Given the description of an element on the screen output the (x, y) to click on. 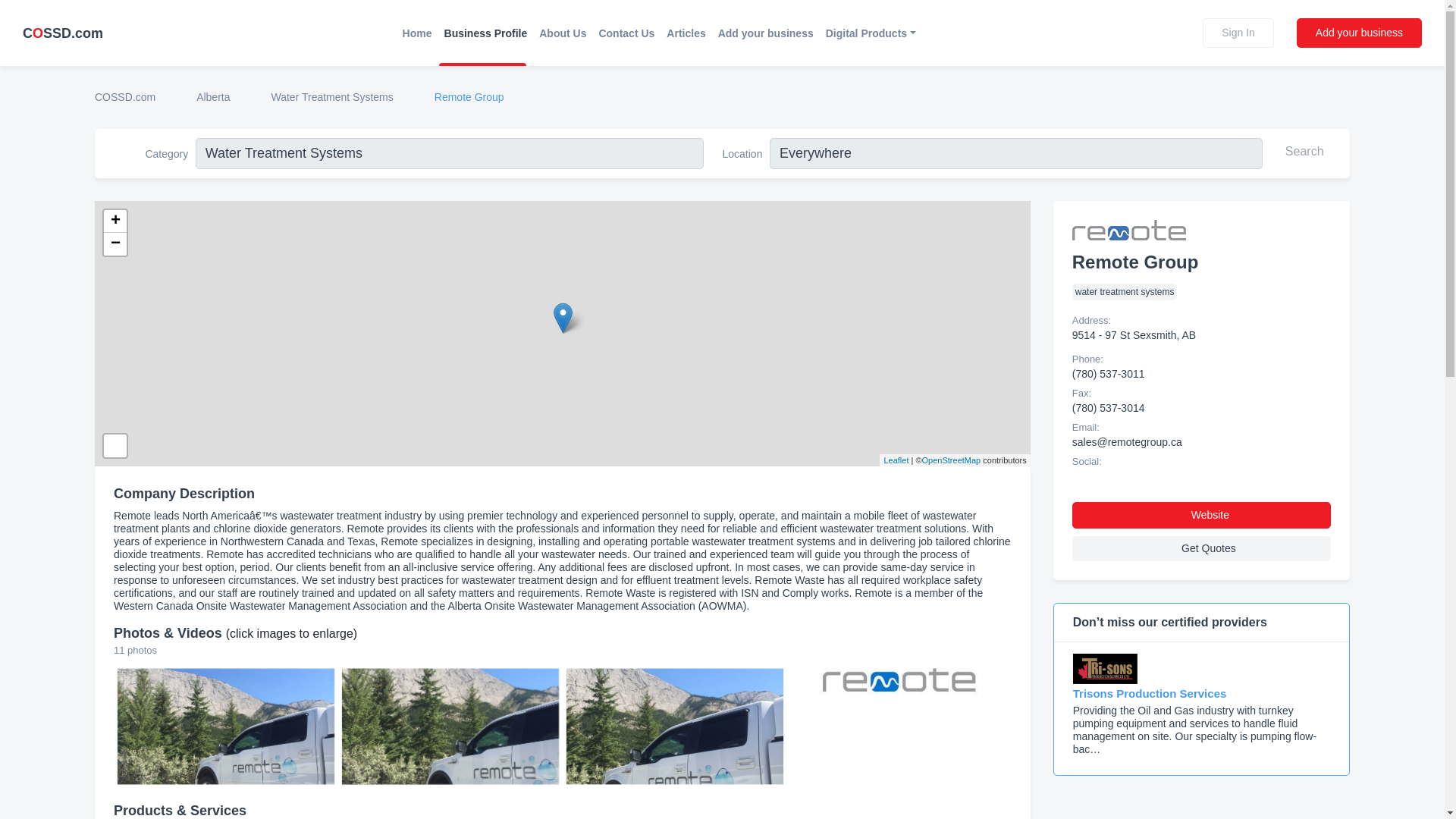
Home (417, 32)
Zoom out (114, 243)
COSSD.com (63, 32)
Add your business (765, 32)
Everywhere (1016, 153)
OpenStreetMap (951, 459)
Articles (686, 32)
Leaflet (895, 459)
Add your business (1359, 32)
Everywhere (1016, 153)
